Given the description of an element on the screen output the (x, y) to click on. 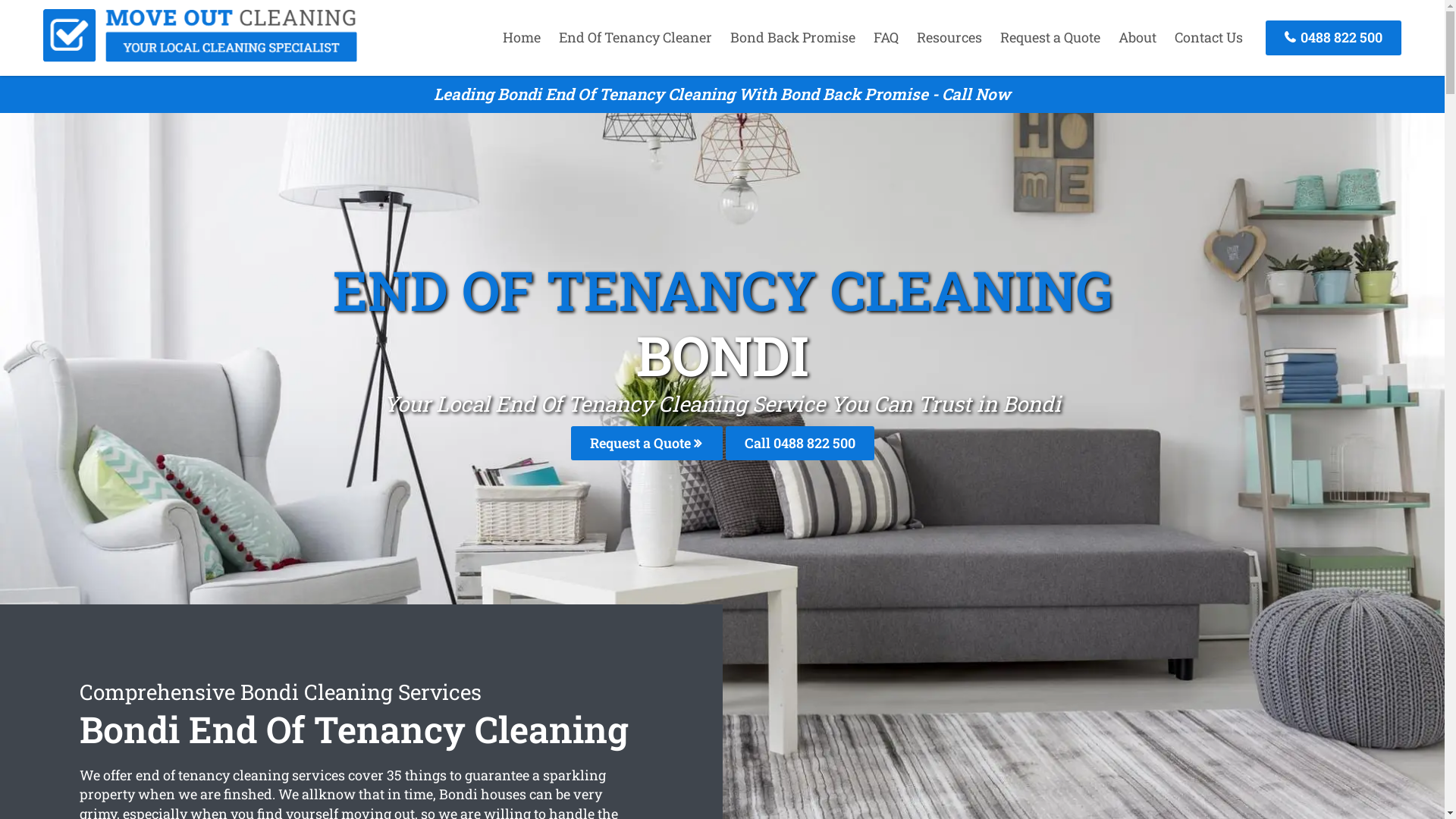
Resources Element type: text (949, 37)
FAQ Element type: text (886, 37)
Request a Quote Element type: text (645, 443)
Request a Quote Element type: text (1049, 37)
End of Lease Cleaning Element type: hover (200, 56)
About Element type: text (1137, 37)
0488 822 500 Element type: text (1333, 37)
Contact Us Element type: text (1208, 37)
Bond Back Promise Element type: text (792, 37)
Call 0488 822 500 Element type: text (798, 443)
End Of Tenancy Cleaner Element type: text (635, 37)
Home Element type: text (521, 37)
